Given the description of an element on the screen output the (x, y) to click on. 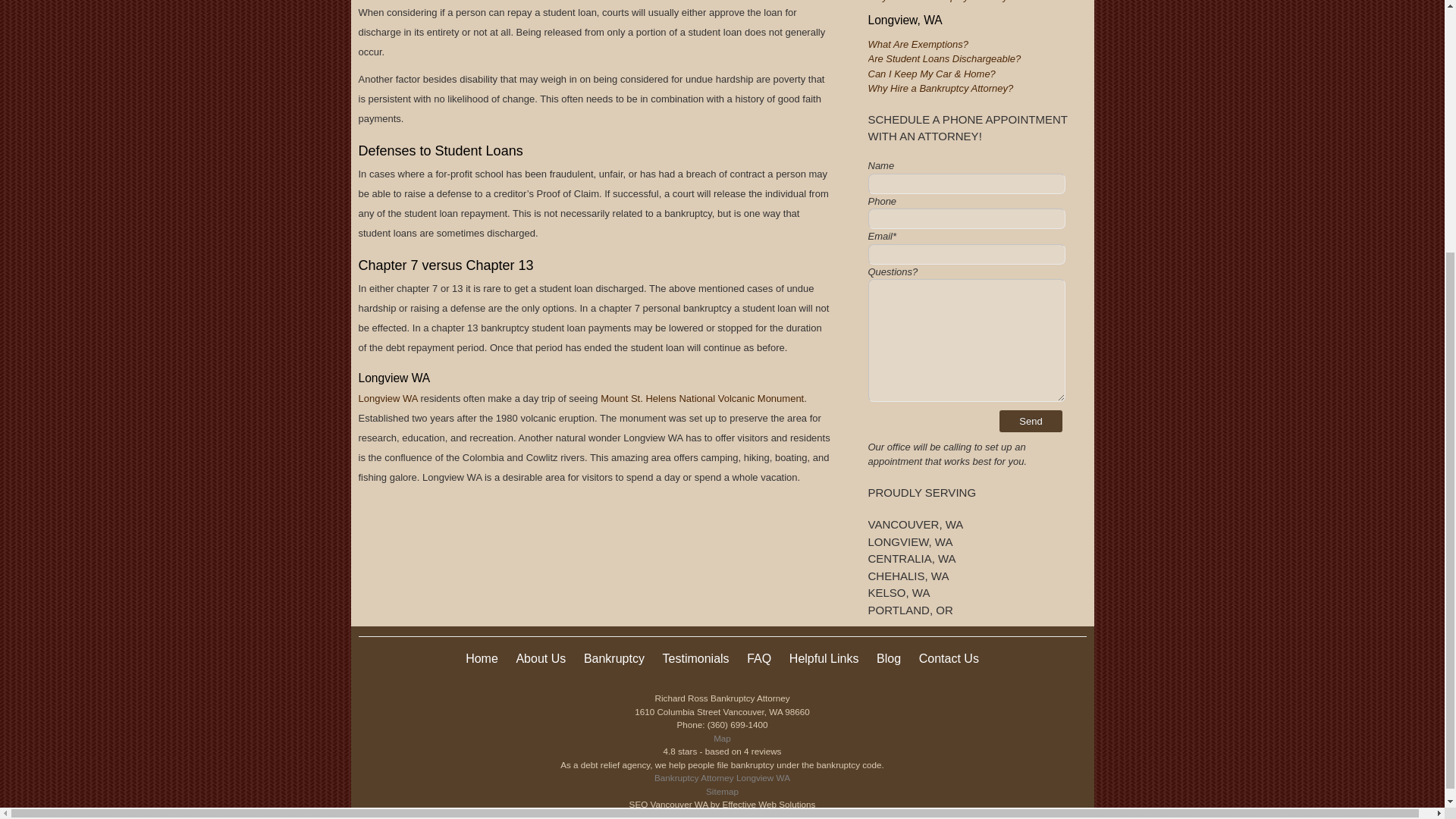
Longview WA (387, 398)
Send (1030, 421)
Are Student Loans Dischargeable? (943, 58)
Mount St. Helens National Volcanic Monument (701, 398)
What Are Exemptions? (917, 43)
Home (481, 658)
Why Hire a Bankruptcy Attorney? (940, 1)
Why Hire a Bankruptcy Attorney? (940, 88)
Send (1030, 421)
